Given the description of an element on the screen output the (x, y) to click on. 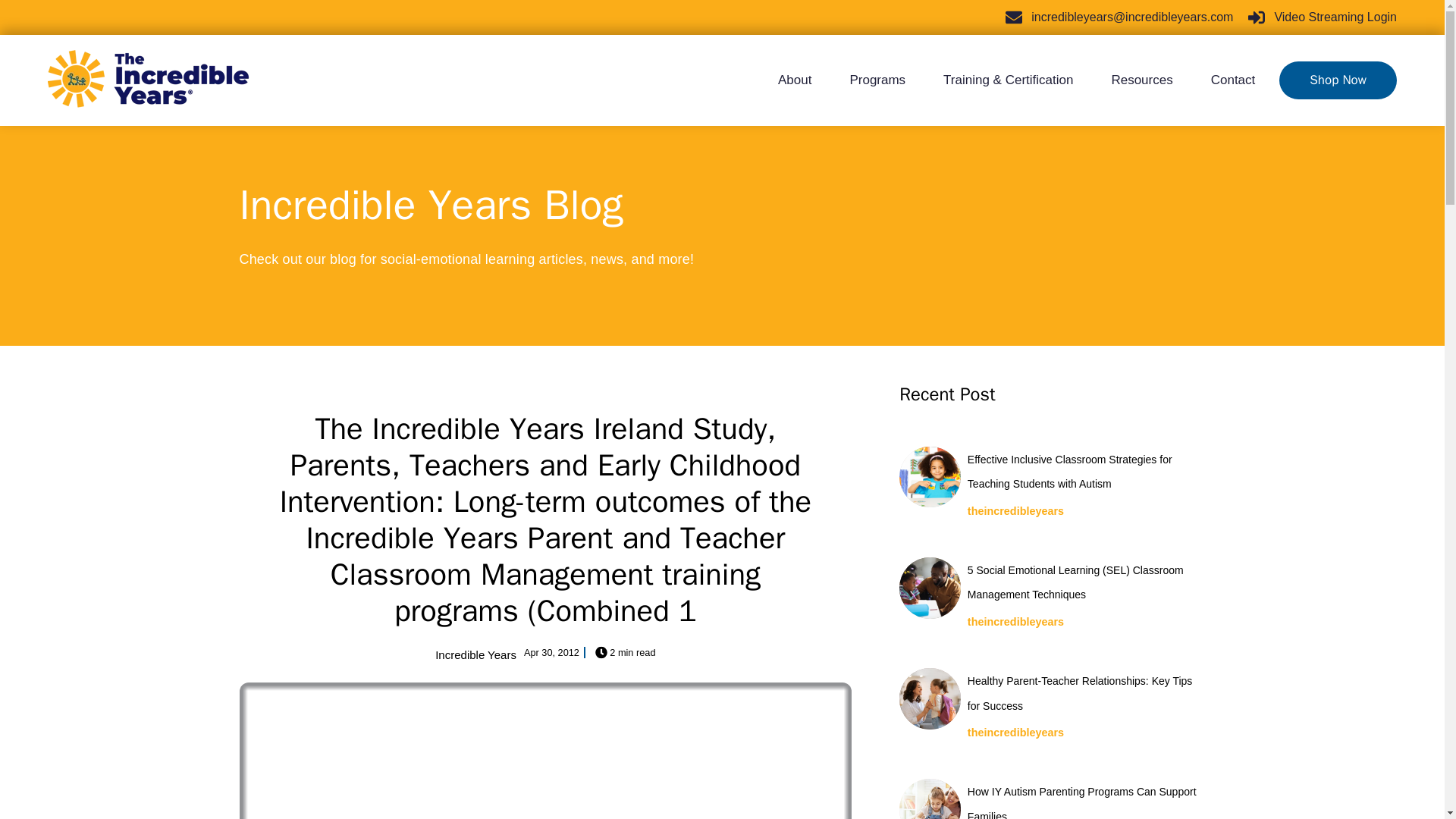
Programs (876, 80)
Contact (1223, 80)
